Given the description of an element on the screen output the (x, y) to click on. 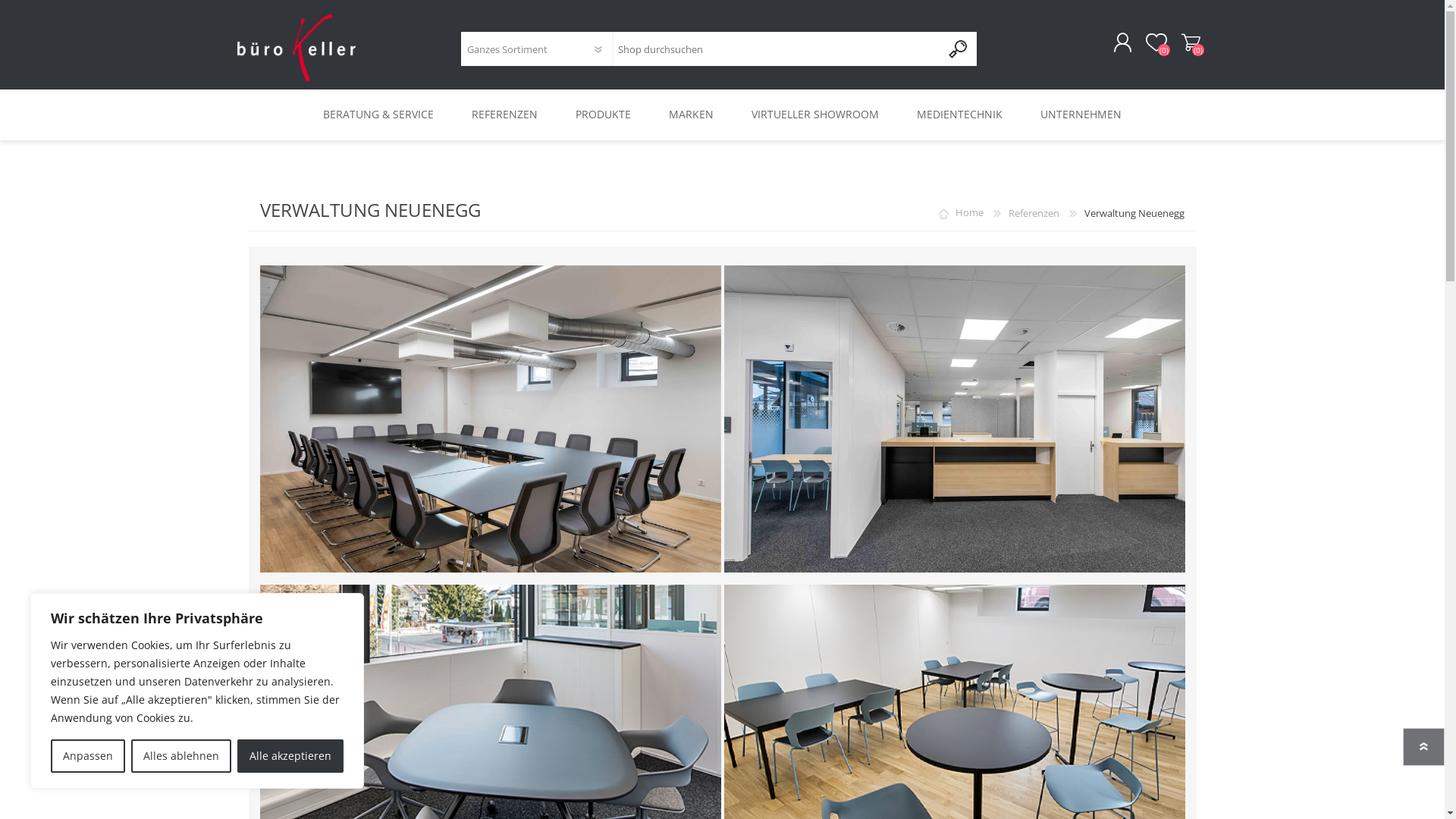
Suchen Element type: text (958, 48)
PRODUKTE Element type: text (602, 114)
Anpassen Element type: text (87, 755)
BERATUNG & SERVICE Element type: text (378, 114)
MEDIENTECHNIK Element type: text (959, 114)
REFERENZEN Element type: text (504, 114)
MARKEN Element type: text (690, 114)
VIRTUELLER SHOWROOM Element type: text (814, 114)
Alles ablehnen Element type: text (181, 755)
Wunschliste
(0) Element type: text (1156, 42)
Home Element type: text (969, 212)
Referenzen Element type: text (1033, 212)
Alle akzeptieren Element type: text (290, 755)
UNTERNEHMEN Element type: text (1080, 114)
Warenkorb Element type: text (1190, 42)
